Given the description of an element on the screen output the (x, y) to click on. 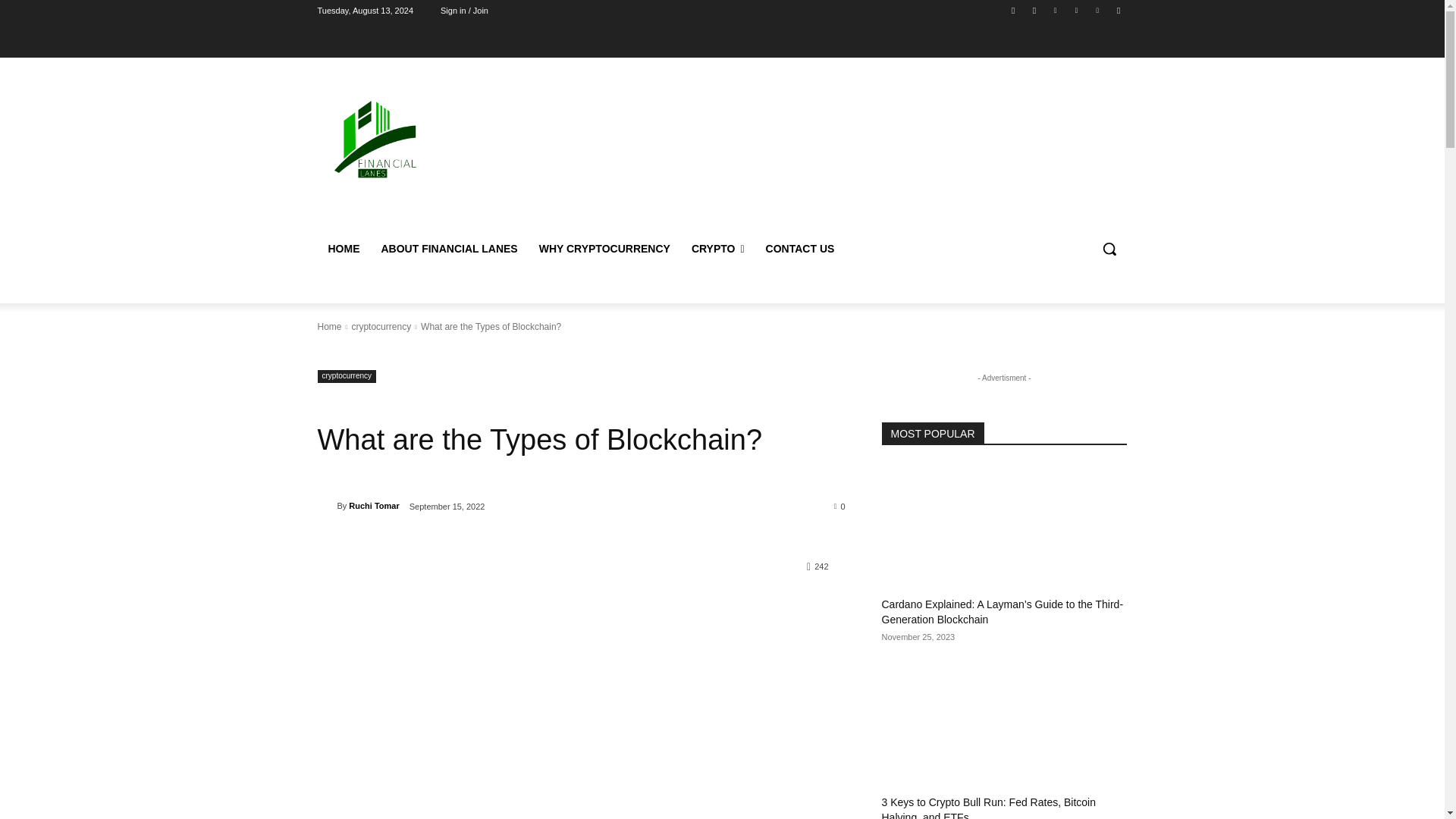
Linkedin (1055, 9)
Twitter (1097, 9)
Instagram (1034, 9)
Facebook (1013, 9)
Pinterest (1075, 9)
View all posts in cryptocurrency (380, 326)
Youtube (1117, 9)
